Given the description of an element on the screen output the (x, y) to click on. 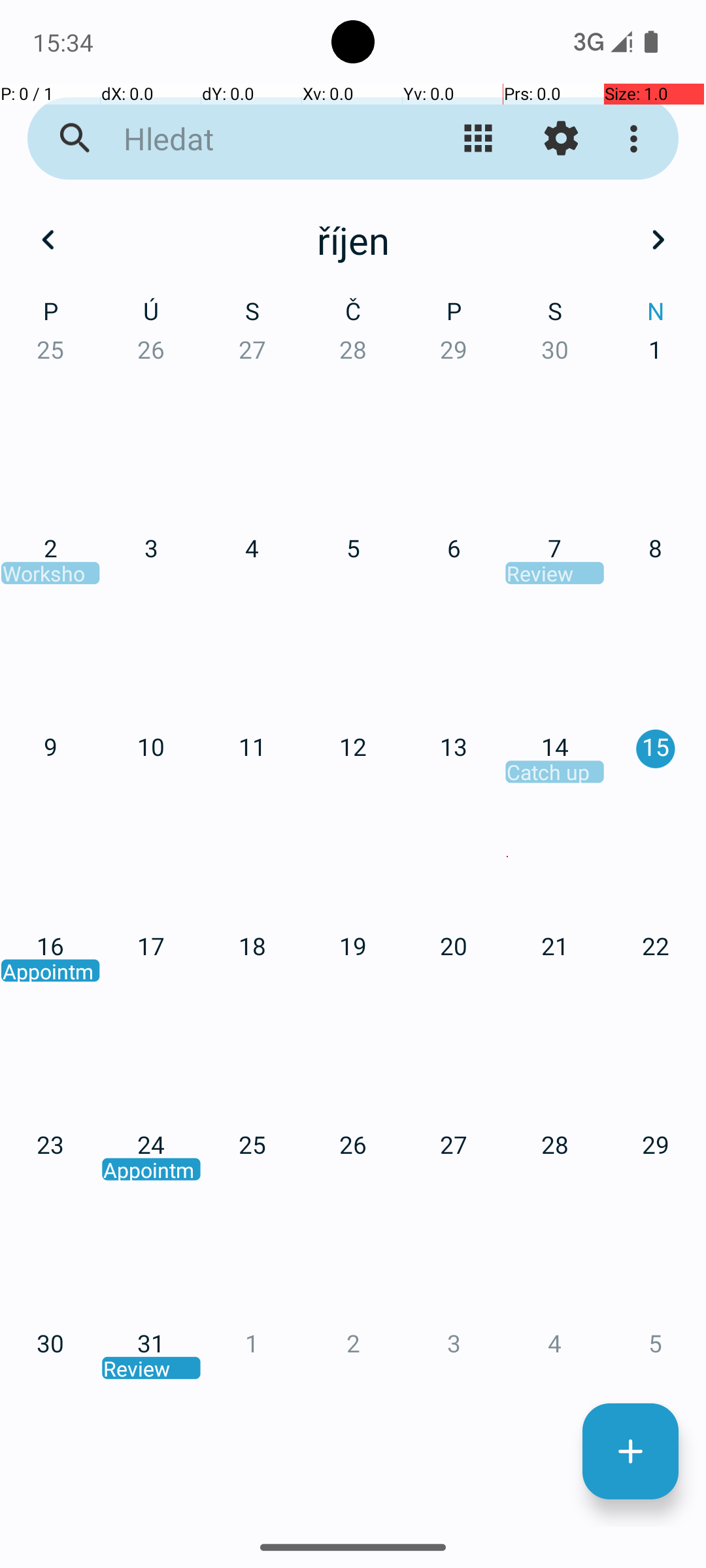
Hledat Element type: android.widget.EditText (252, 138)
Změnit zobrazení Element type: android.widget.Button (477, 138)
Nastavení Element type: android.widget.Button (560, 138)
Další možnosti Element type: android.widget.ImageView (636, 138)
Nová událost Element type: android.widget.ImageButton (630, 1451)
říjen Element type: android.widget.TextView (352, 239)
